Given the description of an element on the screen output the (x, y) to click on. 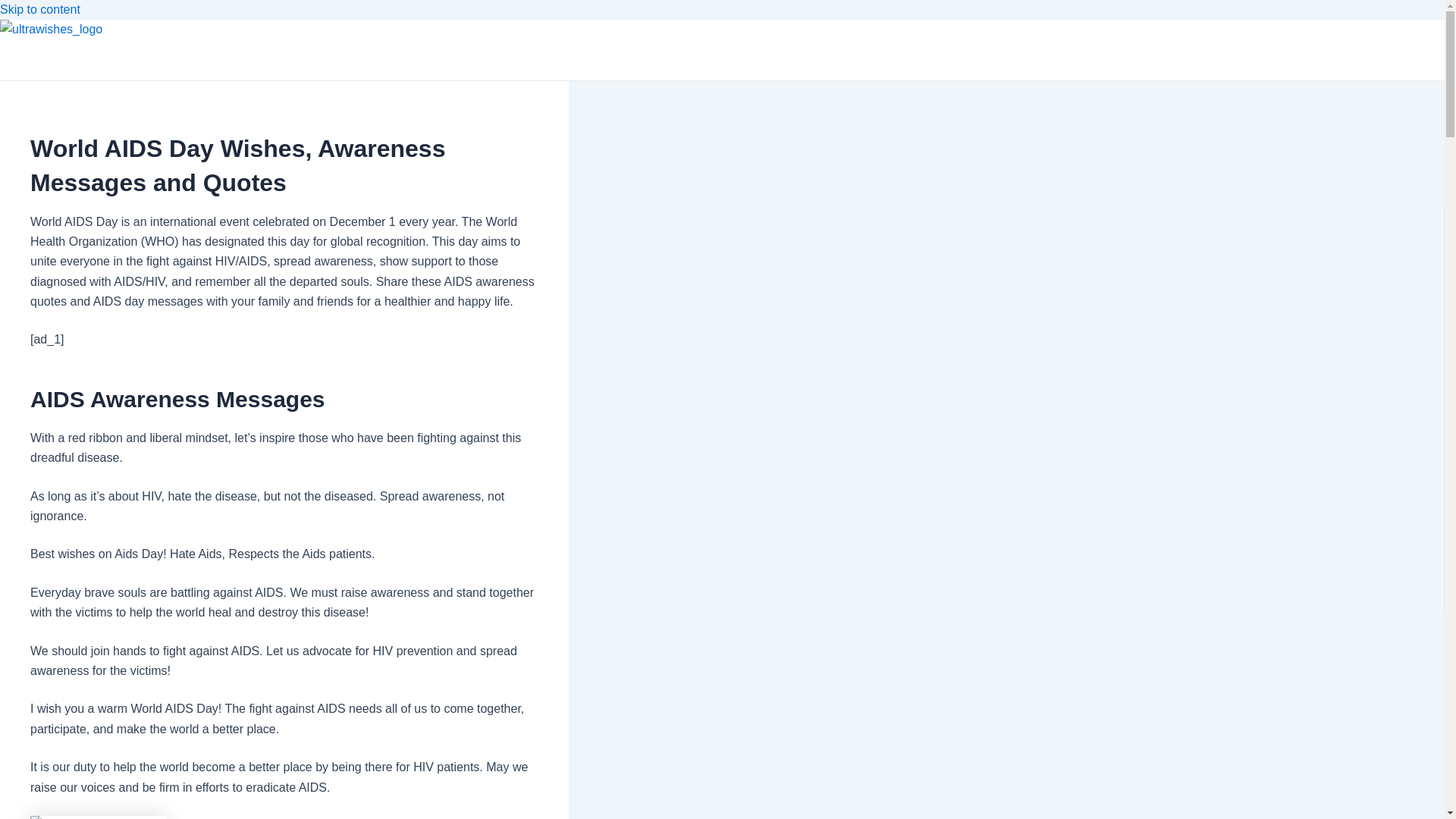
Skip to content (40, 9)
Skip to content (40, 9)
